Given the description of an element on the screen output the (x, y) to click on. 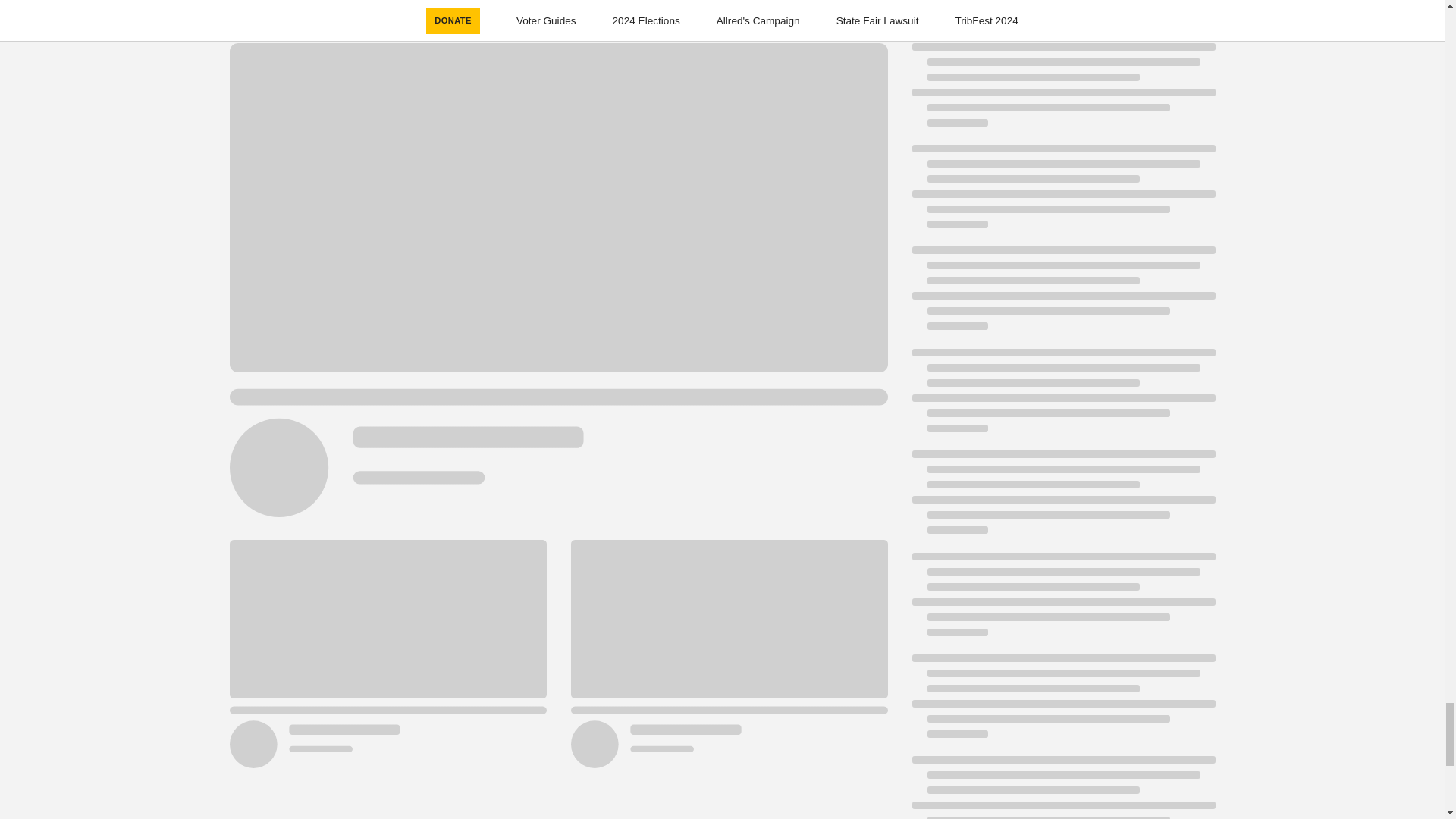
Loading indicator (1062, 295)
Loading indicator (1062, 499)
Loading indicator (1062, 92)
Loading indicator (1062, 787)
Loading indicator (1062, 703)
Loading indicator (1062, 397)
Loading indicator (1062, 601)
Loading indicator (1062, 193)
